Given the description of an element on the screen output the (x, y) to click on. 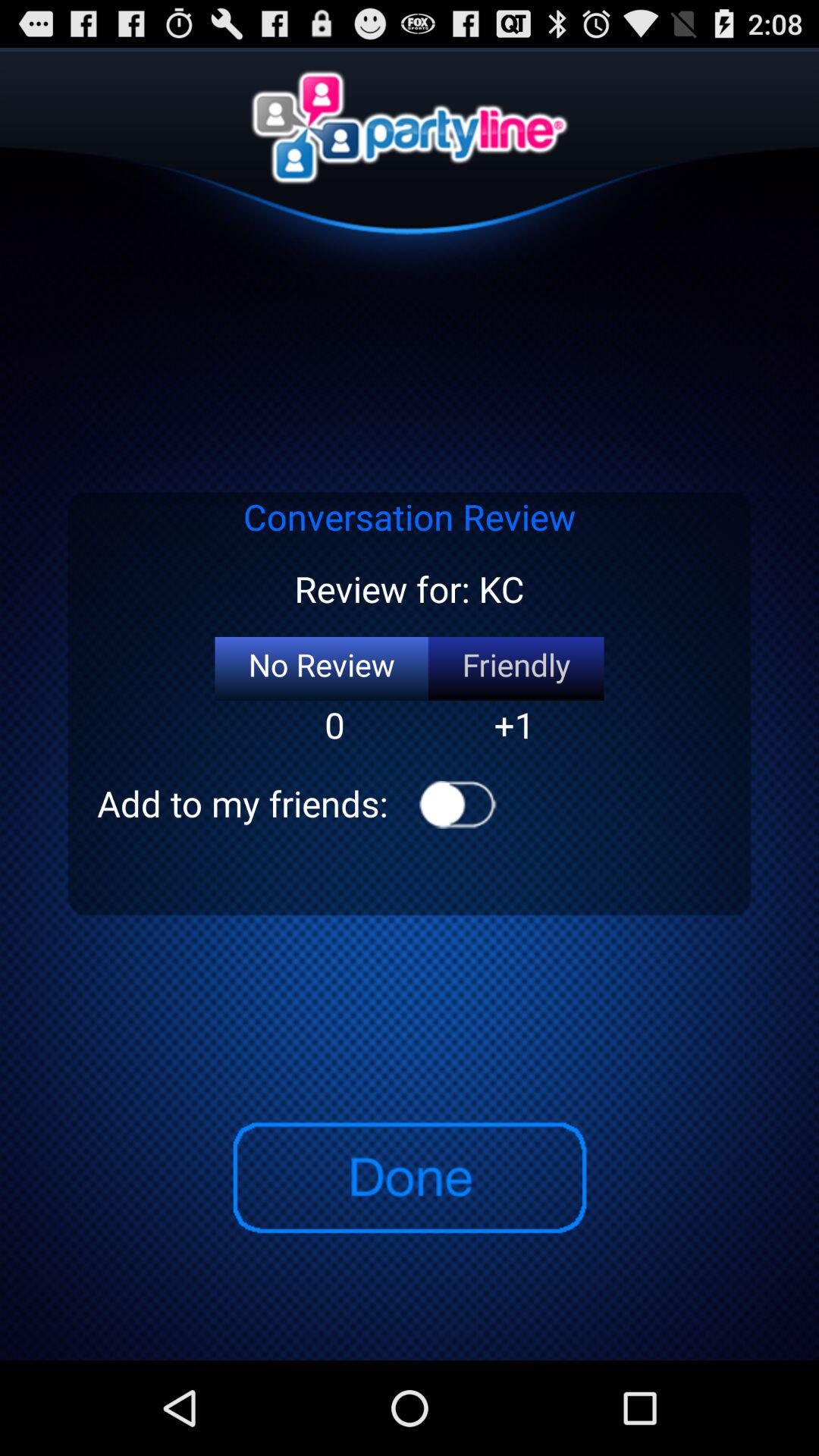
tap the icon to the right of the no review item (516, 668)
